Given the description of an element on the screen output the (x, y) to click on. 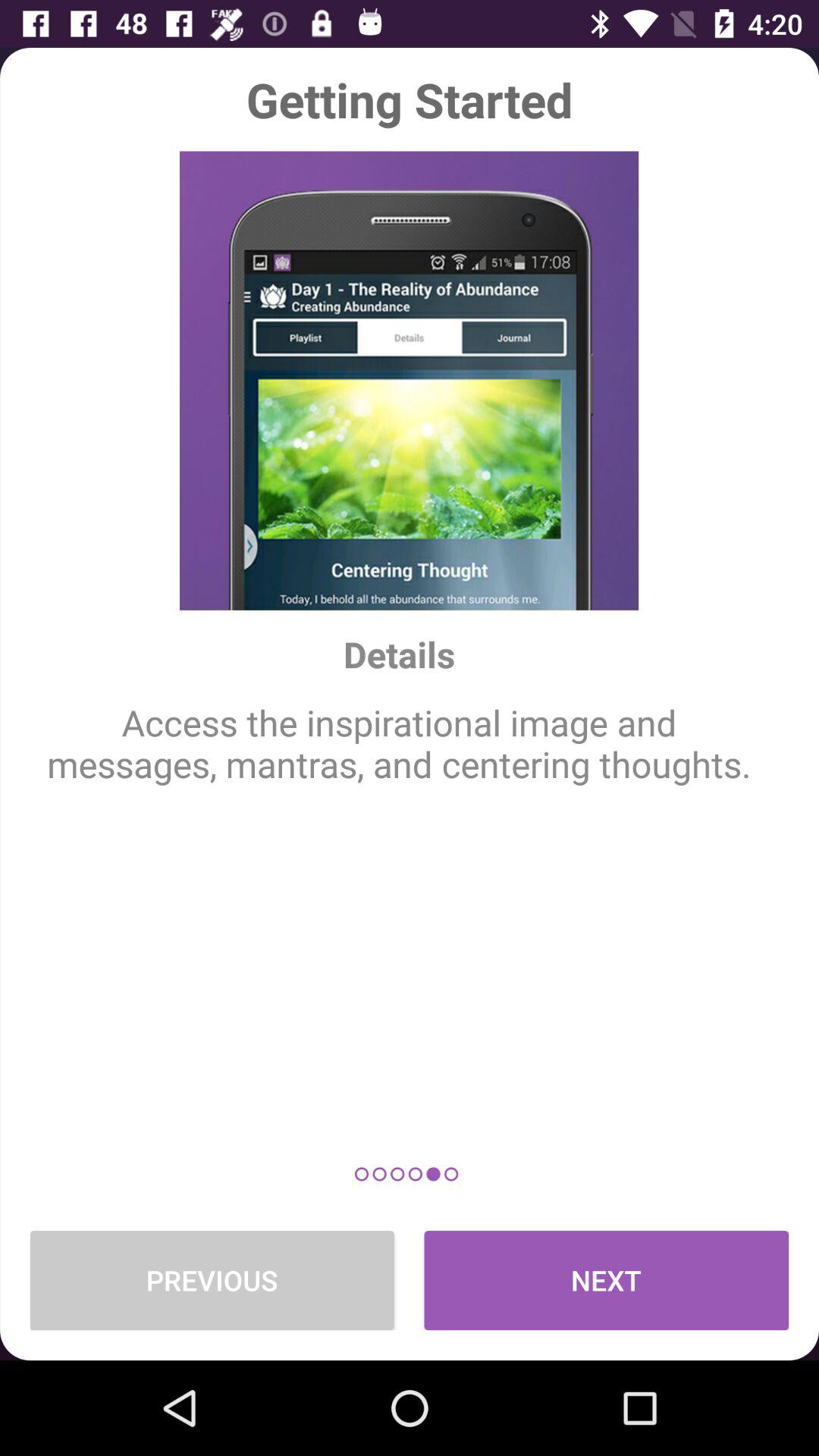
turn on icon to the left of the next icon (212, 1280)
